Given the description of an element on the screen output the (x, y) to click on. 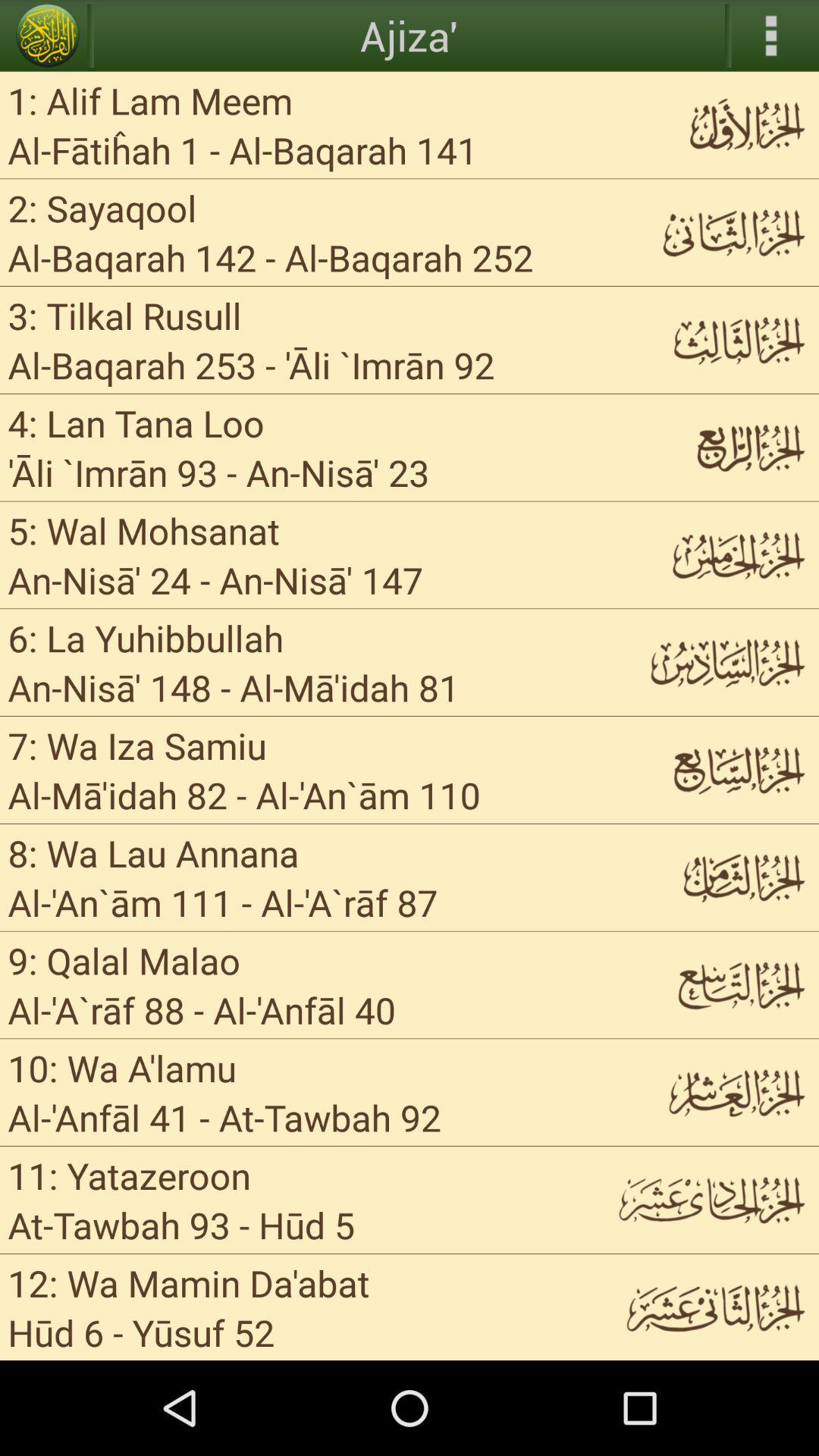
scroll until the 5: wal mohsanat (143, 530)
